Given the description of an element on the screen output the (x, y) to click on. 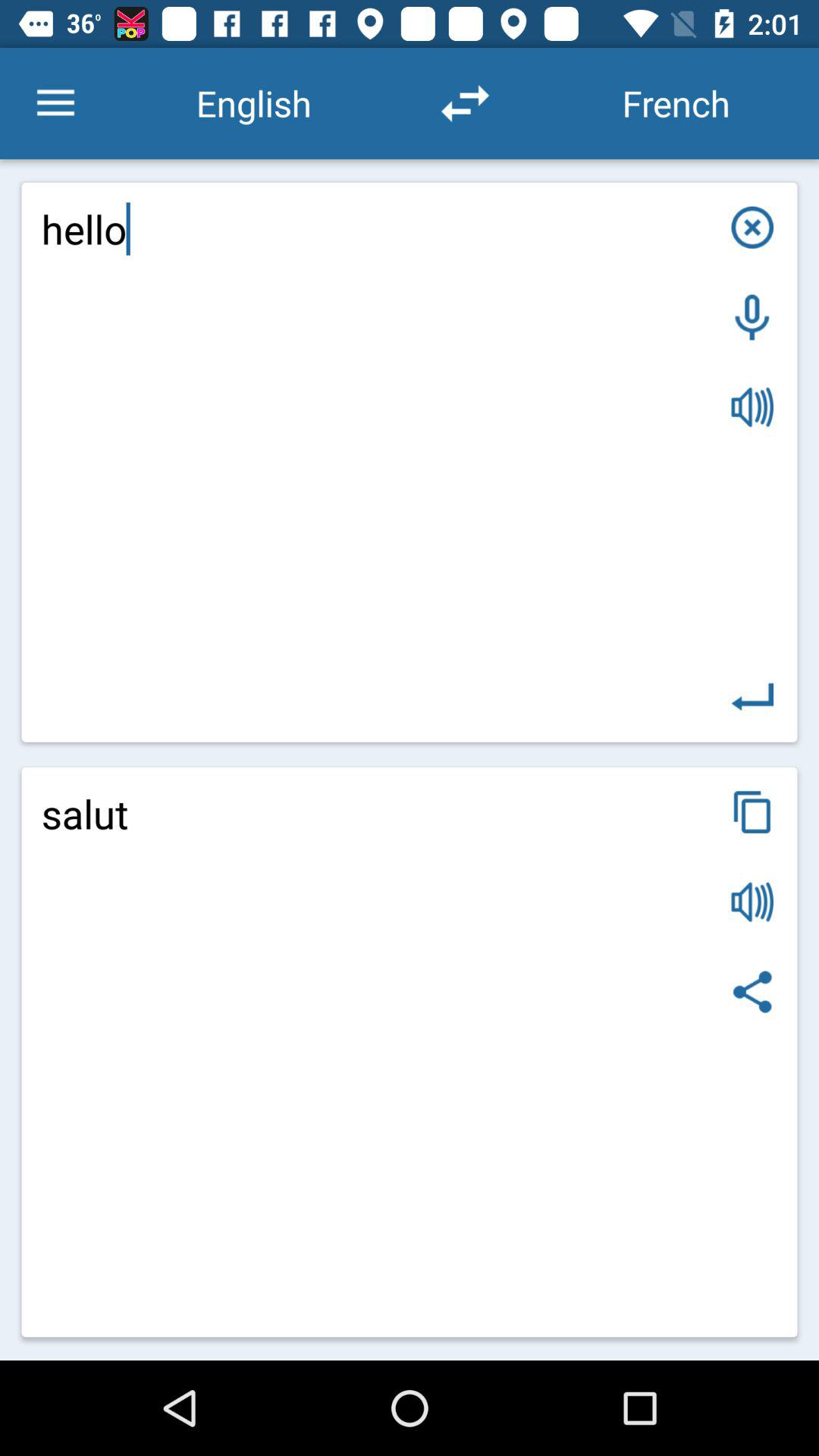
flip until hello (409, 462)
